Given the description of an element on the screen output the (x, y) to click on. 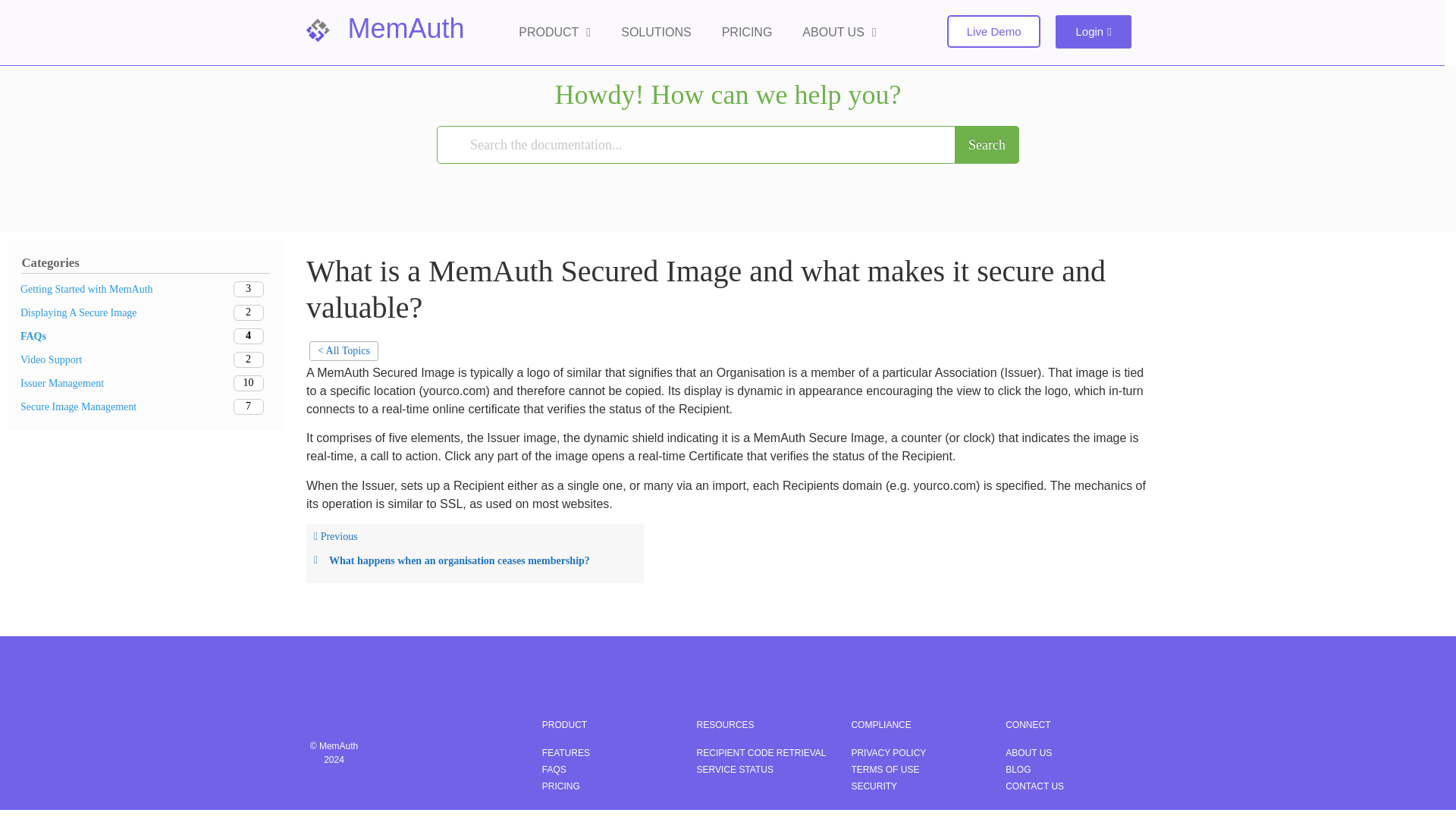
ABOUT US (839, 32)
What happens when an organisation ceases membership? (475, 560)
PRODUCT (554, 32)
Login (1093, 31)
PRICING (746, 32)
MemAuth (405, 28)
Live Demo (994, 31)
SOLUTIONS (655, 32)
